Given the description of an element on the screen output the (x, y) to click on. 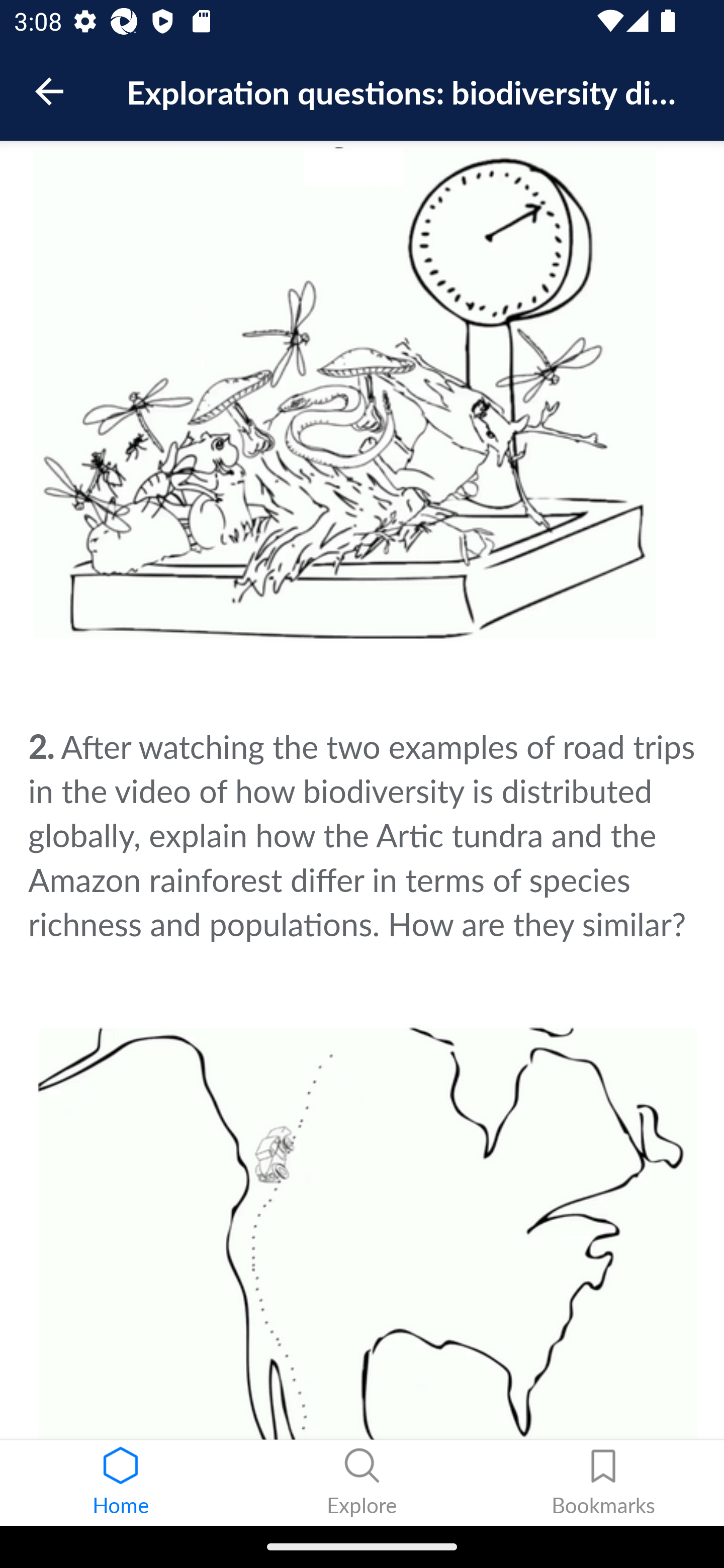
Navigate up (49, 91)
Home (120, 1482)
Explore (361, 1482)
Bookmarks (603, 1482)
